Given the description of an element on the screen output the (x, y) to click on. 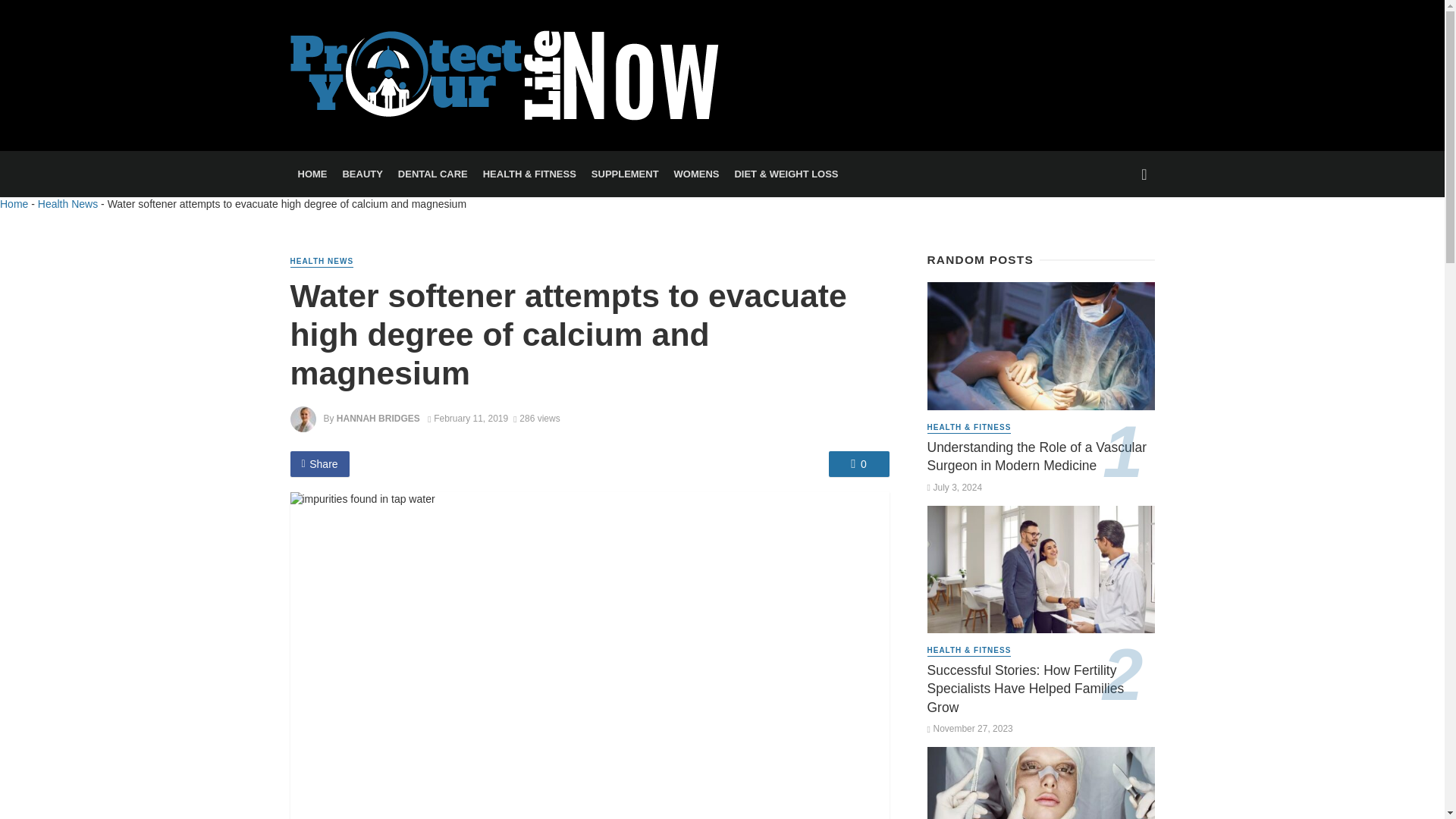
BEAUTY (362, 174)
HEALTH NEWS (321, 261)
DENTAL CARE (433, 174)
February 11, 2019 at 11:10 am (468, 418)
HANNAH BRIDGES (378, 418)
Posts by Hannah Bridges (378, 418)
Share (319, 463)
Latest Advancements in Plastic Surgery (1040, 782)
